Given the description of an element on the screen output the (x, y) to click on. 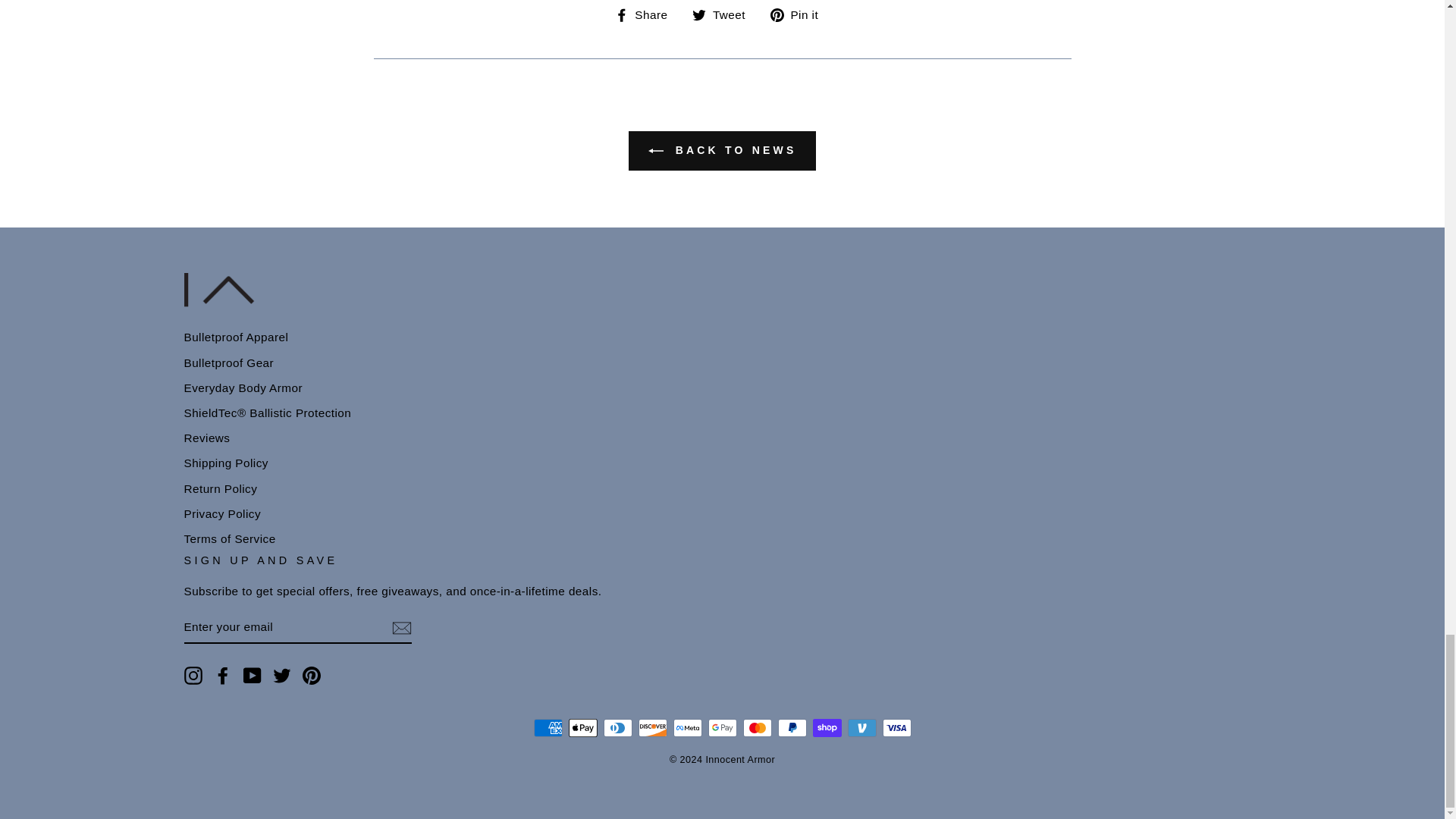
Tweet on Twitter (725, 14)
Discover (652, 728)
Innocent Armor on Facebook (222, 675)
Share on Facebook (646, 14)
Innocent Armor on Twitter (282, 675)
Apple Pay (582, 728)
Innocent Armor on YouTube (251, 675)
Google Pay (721, 728)
Innocent Armor on Instagram (192, 675)
Pin on Pinterest (799, 14)
